Given the description of an element on the screen output the (x, y) to click on. 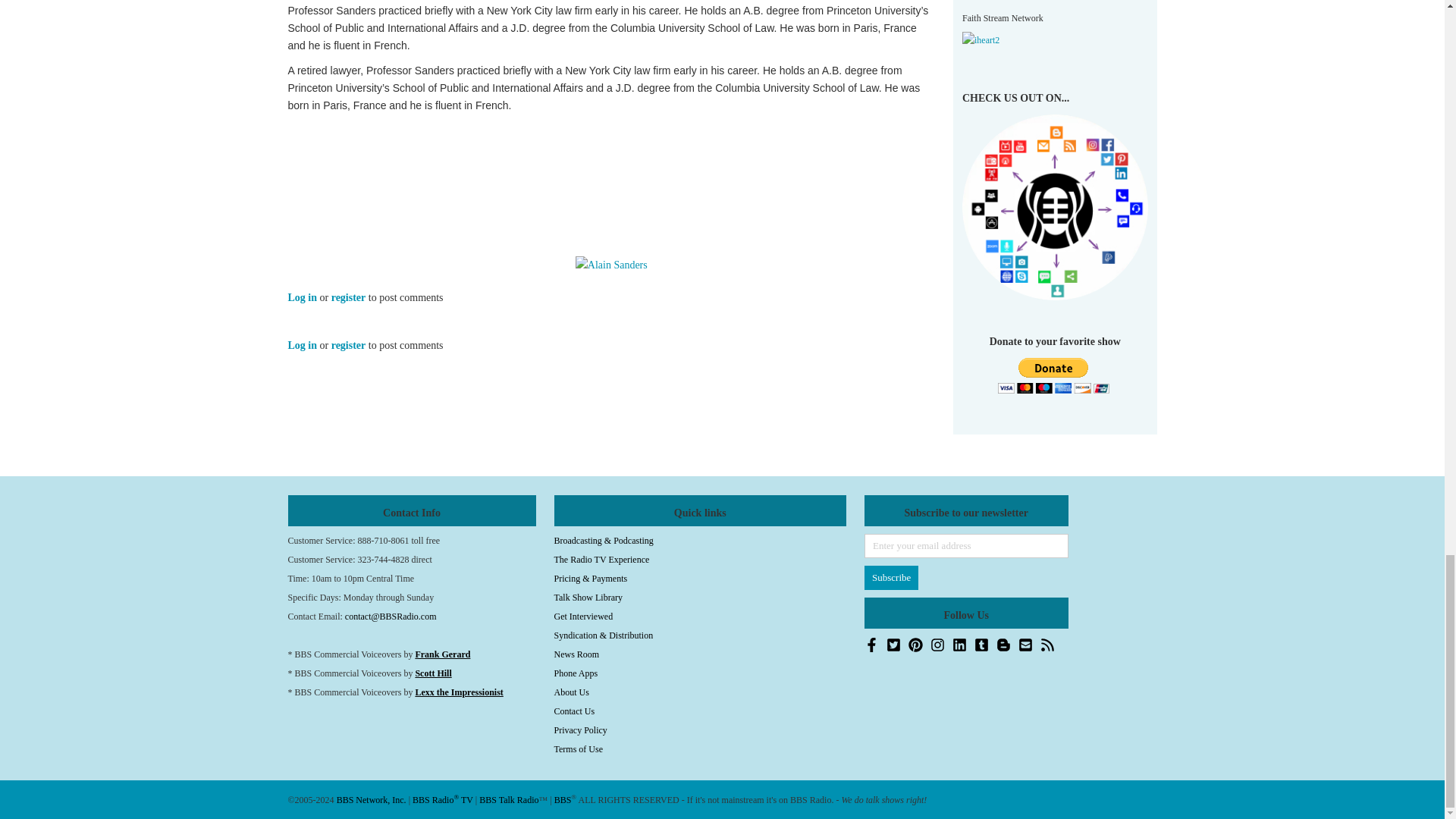
Subscribe (891, 577)
Alain Sanders (611, 264)
